Given the description of an element on the screen output the (x, y) to click on. 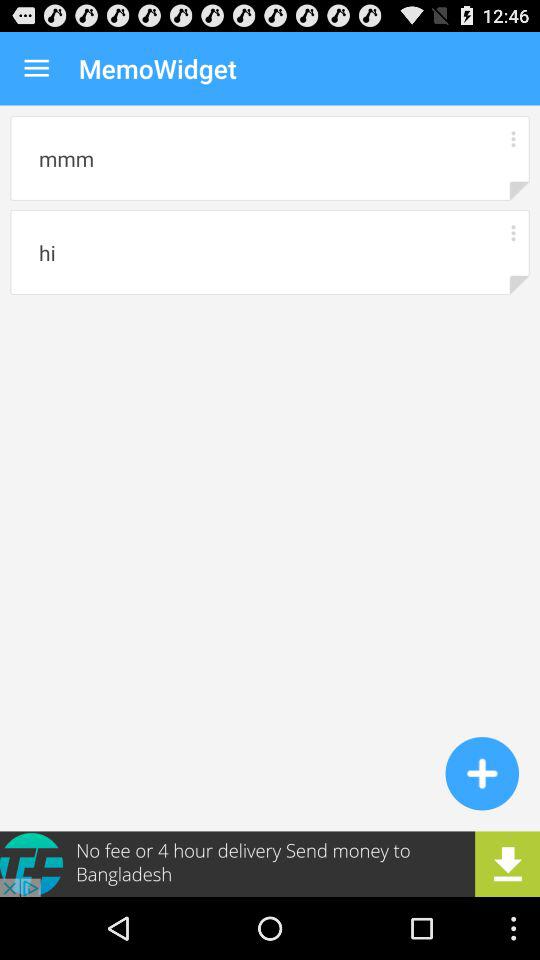
memo options (512, 232)
